Given the description of an element on the screen output the (x, y) to click on. 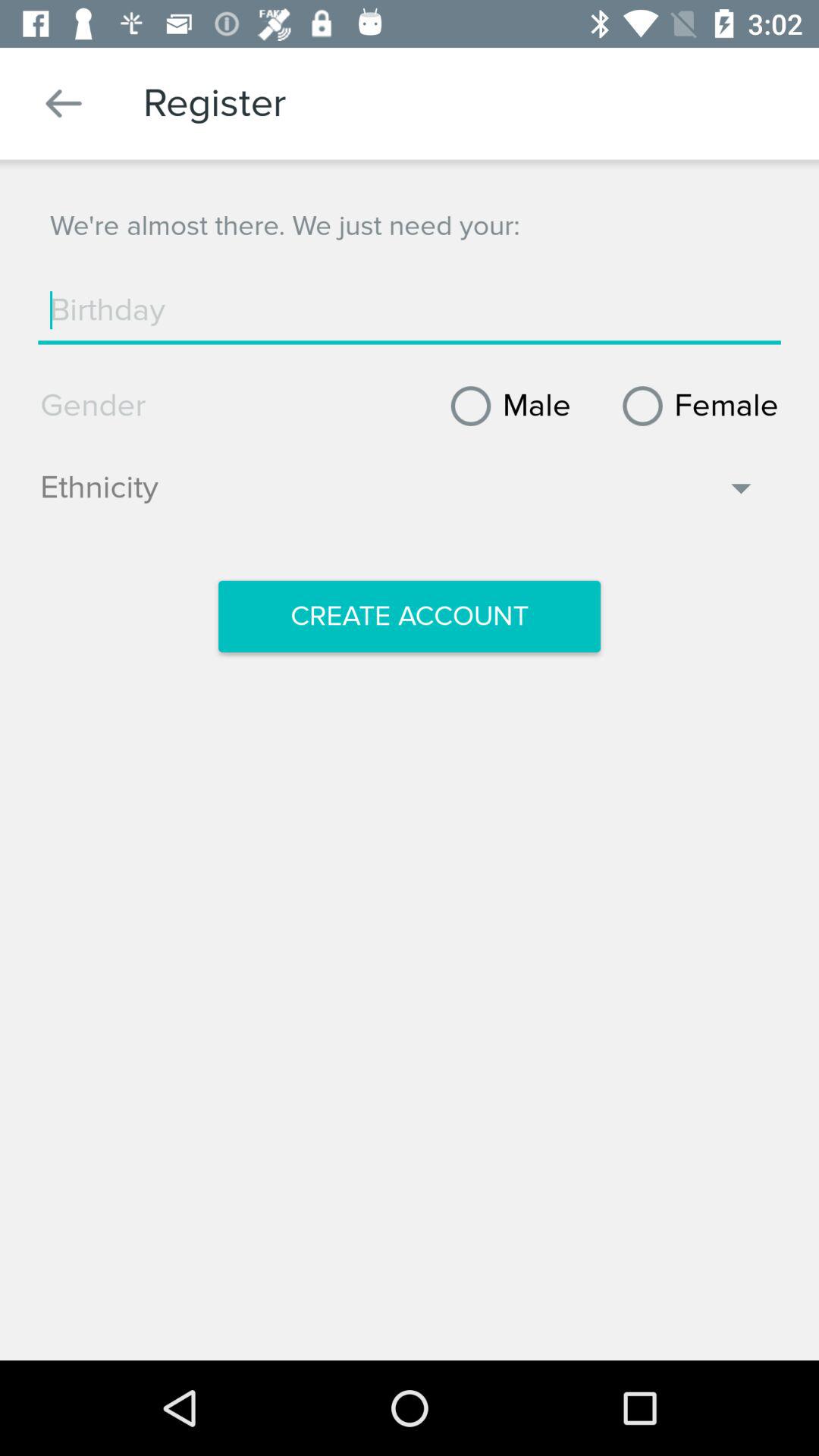
launch the item to the left of register app (63, 103)
